Given the description of an element on the screen output the (x, y) to click on. 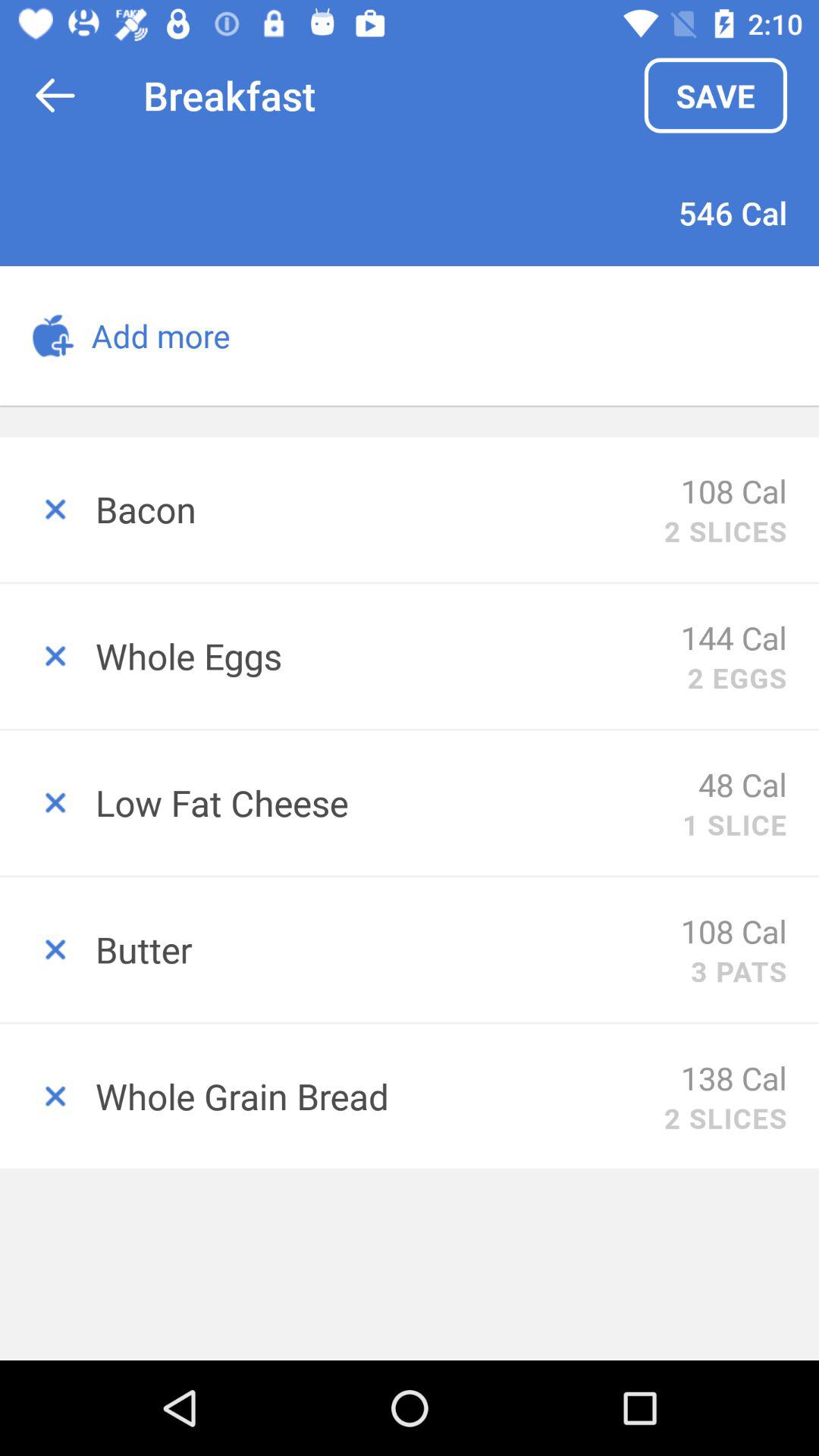
choose item below add more icon (379, 509)
